Given the description of an element on the screen output the (x, y) to click on. 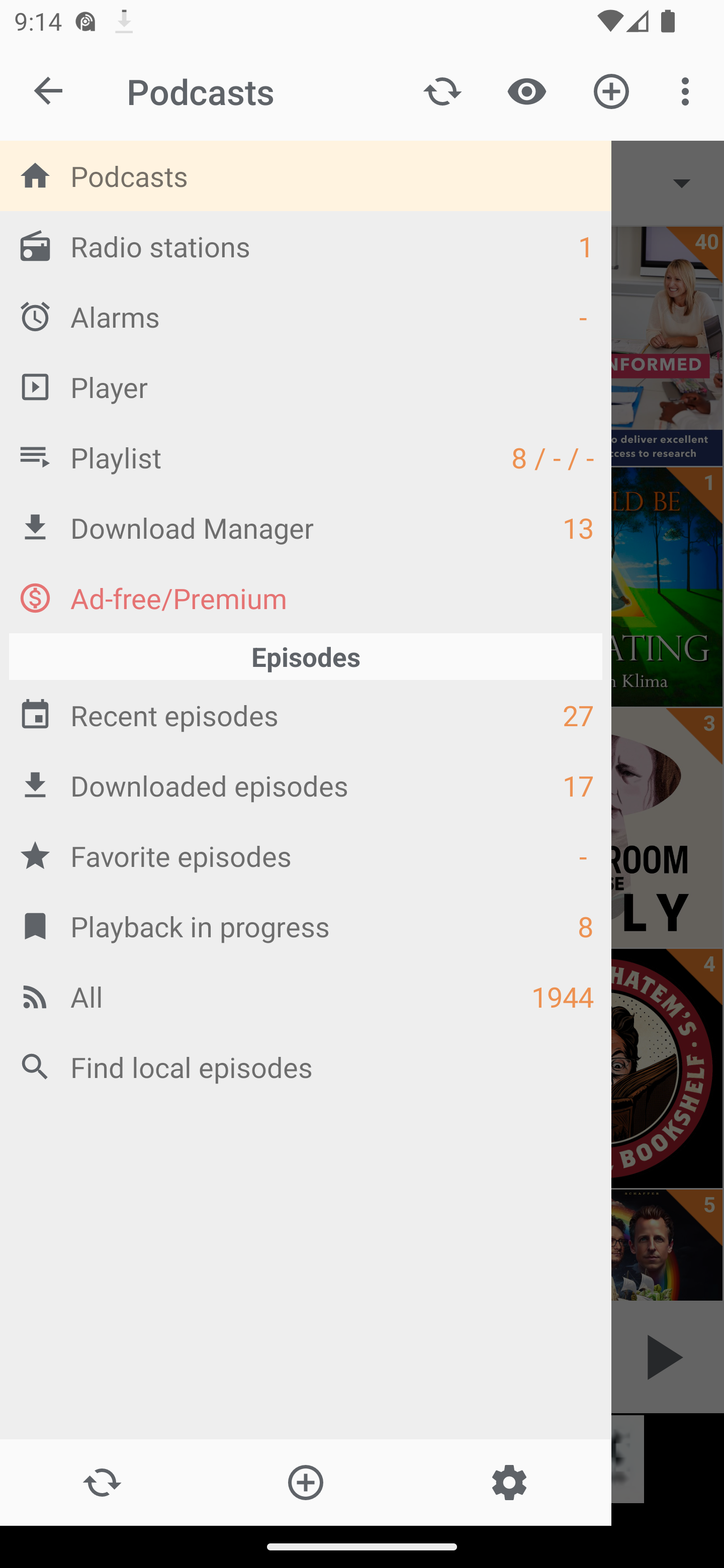
Close navigation sidebar (49, 91)
Update (442, 90)
Show / Hide played content (526, 90)
Add new Podcast (611, 90)
More options (688, 90)
Podcasts (305, 176)
Radio stations 1 (305, 245)
Alarms  -  (305, 315)
Player (305, 386)
Playlist 8 / - / - (305, 456)
Download Manager 13 (305, 527)
Ad-free/Premium (305, 597)
Recent episodes 27 (305, 715)
Downloaded episodes 17 (305, 785)
Favorite episodes  -  (305, 855)
Playback in progress 8 (305, 925)
All 1944 (305, 996)
Find local episodes (305, 1066)
Update (101, 1482)
Add new Podcast (304, 1482)
Settings (508, 1482)
